Given the description of an element on the screen output the (x, y) to click on. 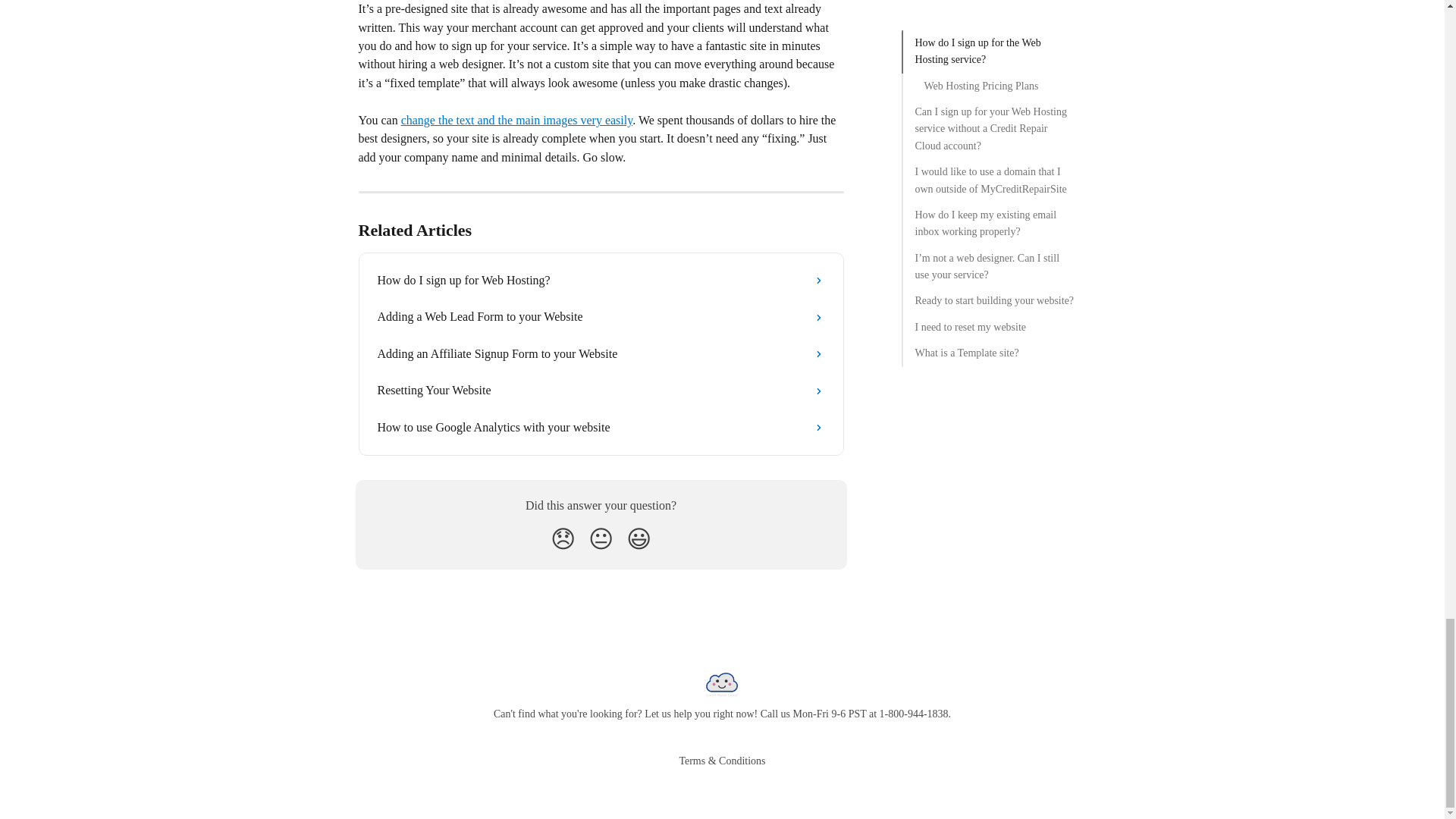
Neutral (600, 538)
Smiley (638, 538)
Disappointed (562, 538)
